Given the description of an element on the screen output the (x, y) to click on. 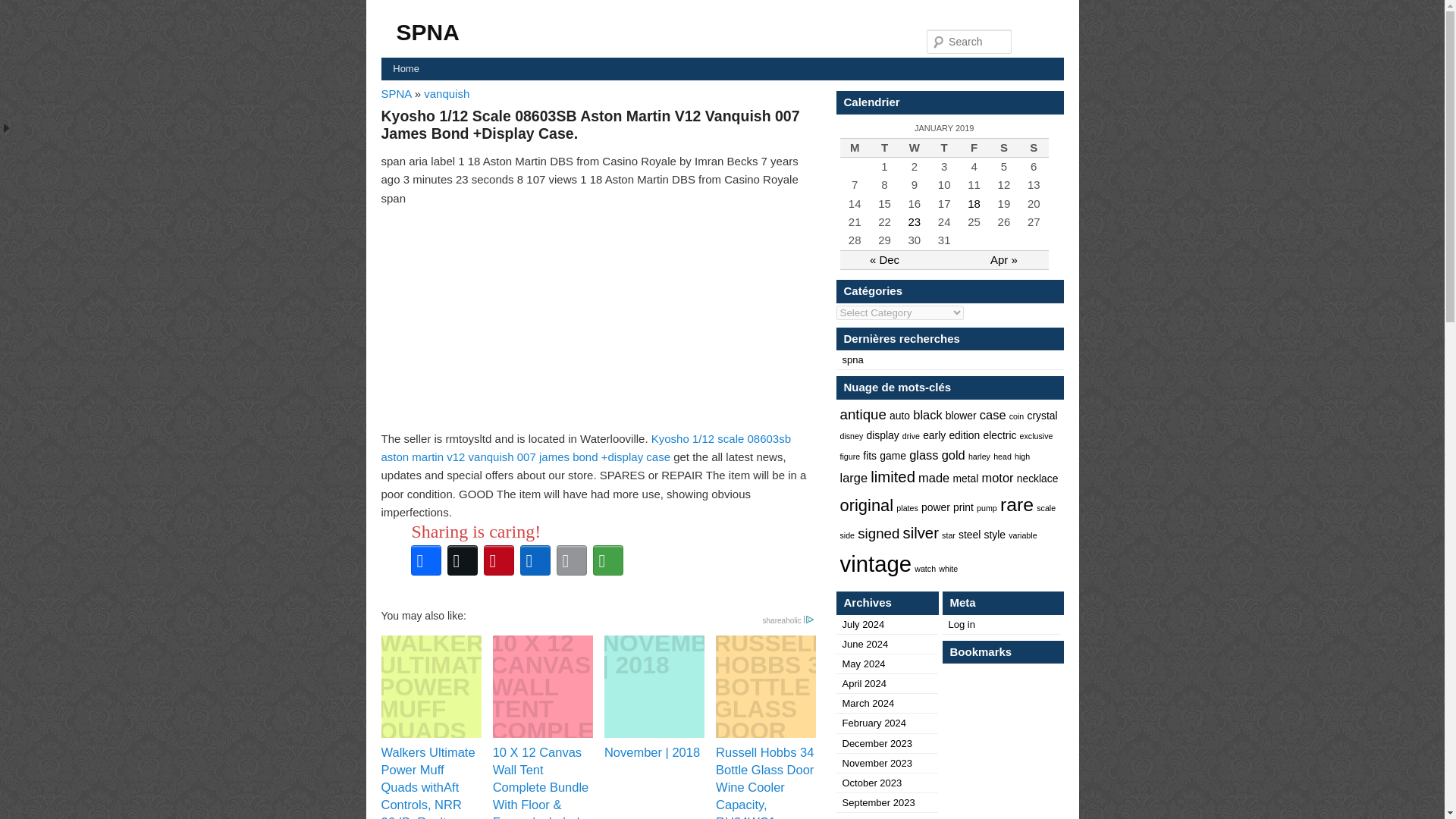
23 (914, 221)
SPNA (396, 92)
Pinterest (498, 560)
vanquish (445, 92)
spna (852, 359)
SPNA (427, 32)
18 (973, 203)
View all posts in vanquish (445, 92)
SPNA (427, 32)
Home (405, 68)
More Options (607, 560)
SPNA (396, 92)
